Given the description of an element on the screen output the (x, y) to click on. 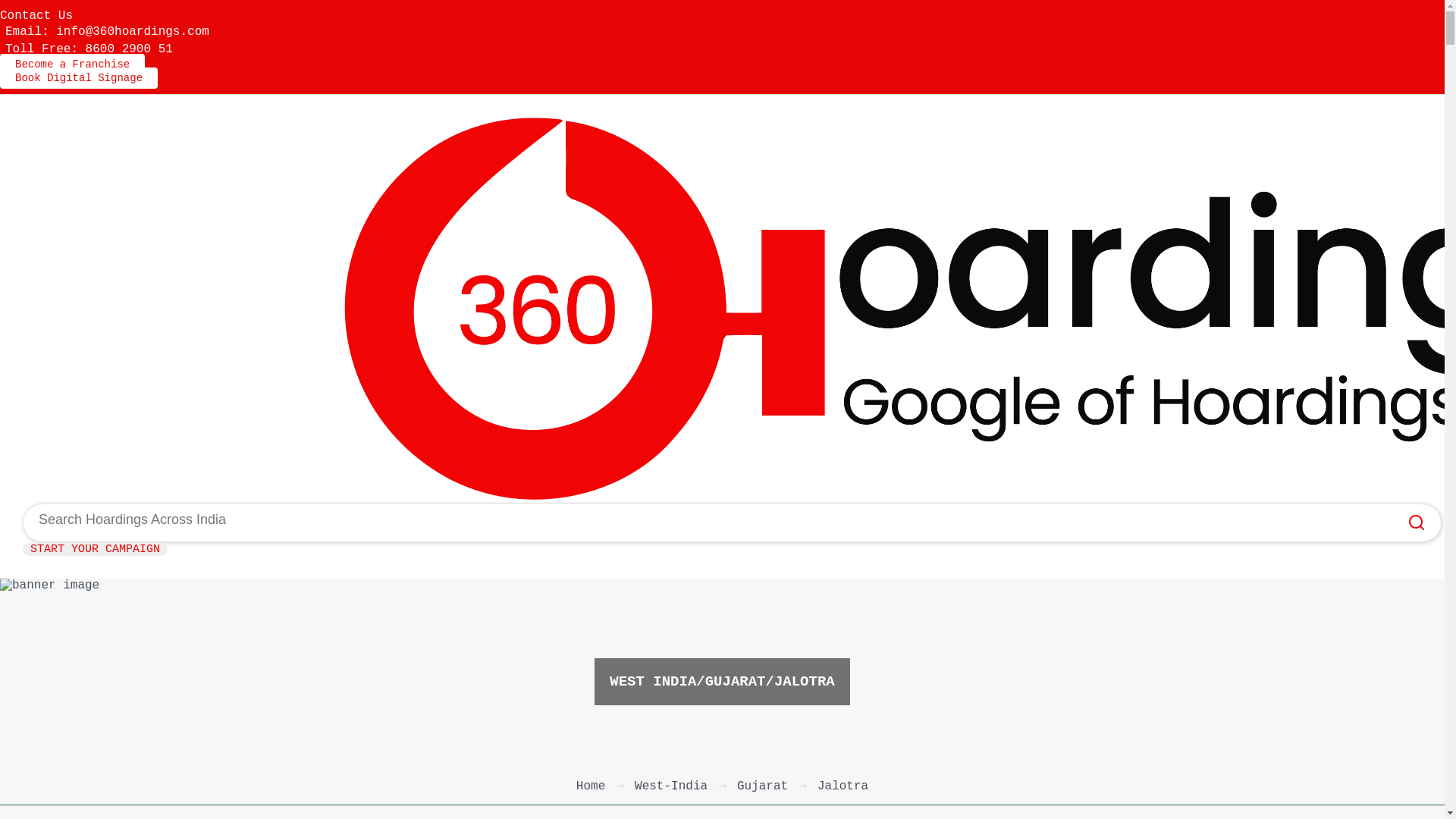
START YOUR CAMPAIGN Element type: text (94, 548)
Gujarat Element type: text (762, 786)
Book Digital Signage Element type: text (78, 77)
Become a Franchise Element type: text (72, 64)
info@360hoardings.com Element type: text (132, 31)
Jalotra Element type: text (842, 786)
Home Element type: text (590, 786)
West-India Element type: text (670, 786)
Contact Us Element type: text (36, 15)
